Given the description of an element on the screen output the (x, y) to click on. 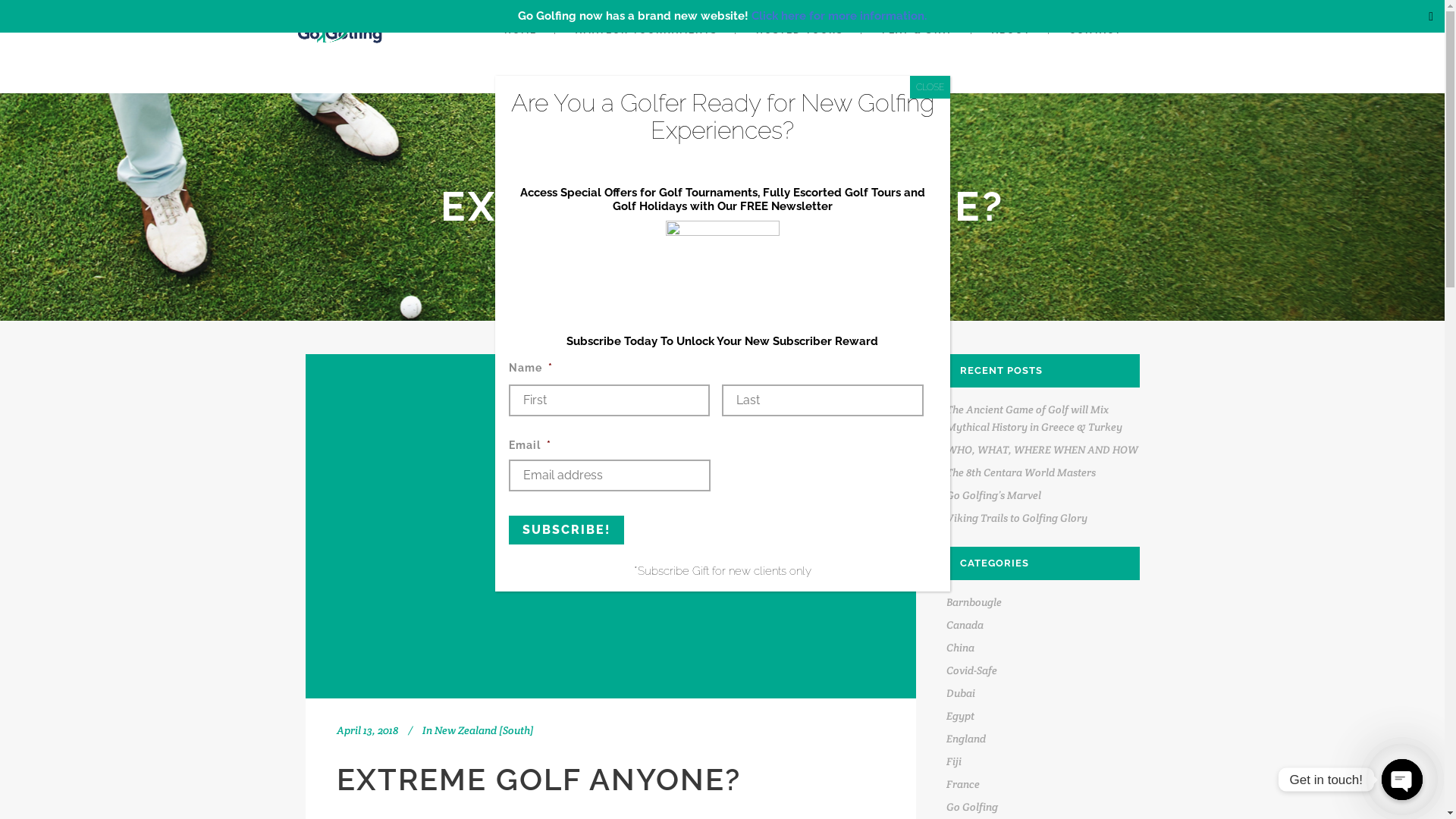
France Element type: text (962, 783)
Dubai Element type: text (960, 692)
HOSTED TOURS Element type: text (798, 30)
Go Golfing Element type: text (971, 806)
England Element type: text (965, 738)
Viking Trails to Golfing Glory Element type: text (1016, 517)
Fiji Element type: text (953, 761)
Canada Element type: text (964, 624)
AMATEUR TOURNAMENTS Element type: text (645, 30)
China Element type: text (960, 647)
The 8th Centara World Masters Element type: text (1020, 472)
CONTACT Element type: text (1095, 30)
CLOSE Element type: text (930, 86)
Subscribe! Element type: text (565, 529)
Barnbougle Element type: text (973, 601)
Egypt Element type: text (960, 715)
New Zealand [South] Element type: text (483, 730)
PLAY & STAY Element type: text (916, 30)
Covid-Safe Element type: text (971, 670)
HOME Element type: text (519, 30)
Click here for more information. Element type: text (838, 15)
ABOUT Element type: text (1010, 30)
WHO, WHAT, WHERE WHEN AND HOW Element type: text (1042, 449)
